Given the description of an element on the screen output the (x, y) to click on. 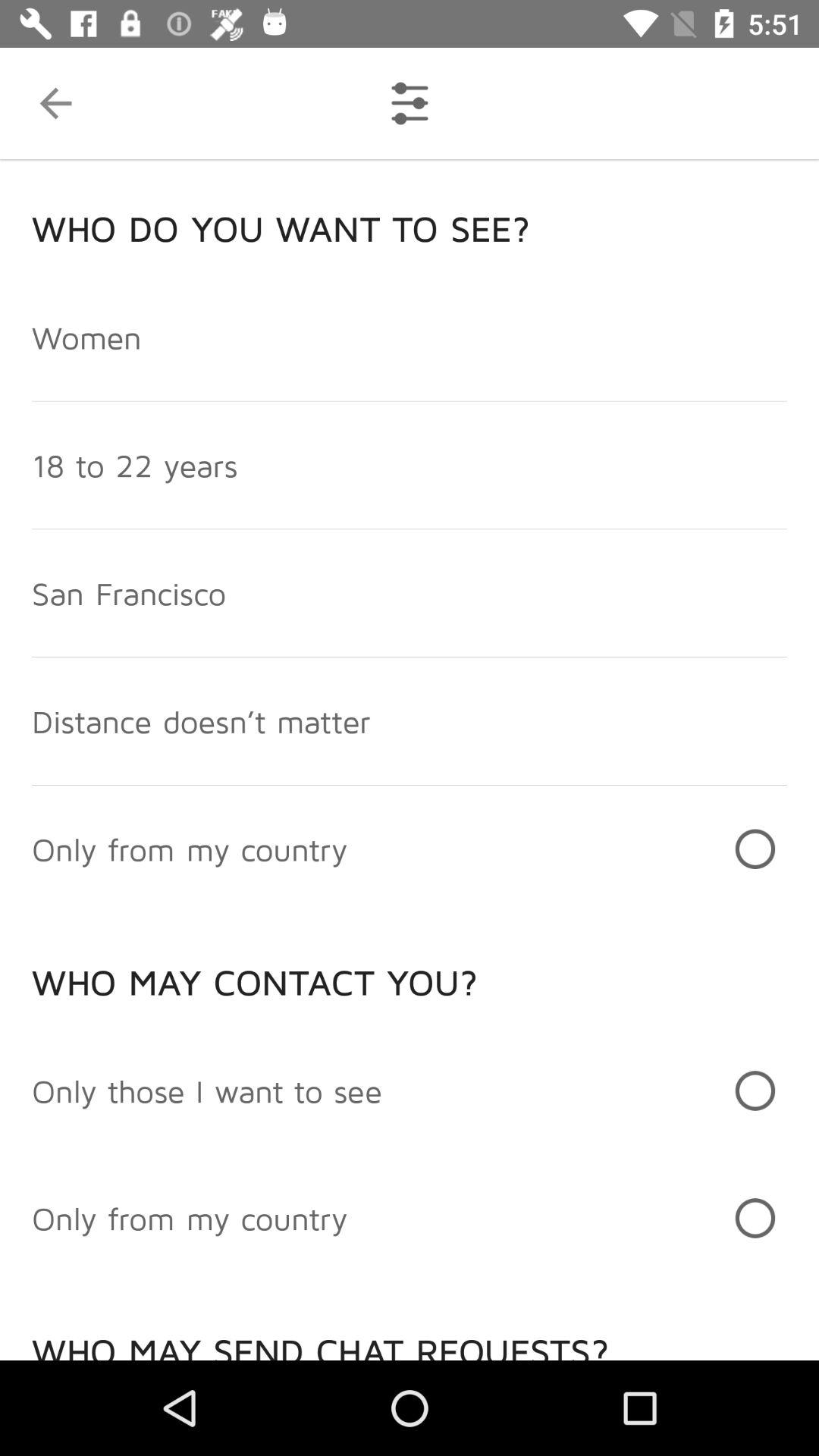
turn off women item (86, 336)
